Given the description of an element on the screen output the (x, y) to click on. 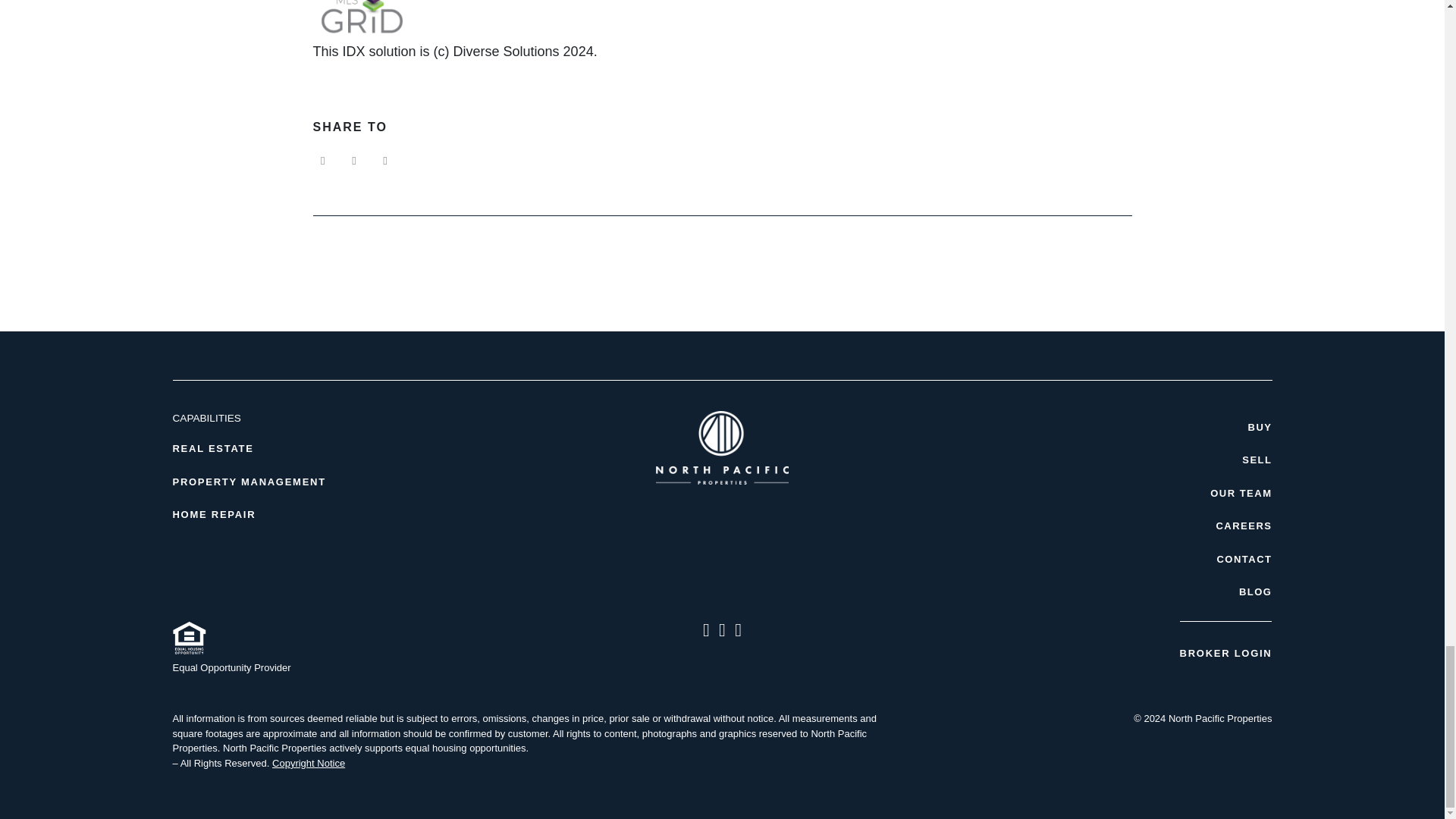
Blog (1088, 592)
Sell (1088, 459)
Our Team (1088, 493)
Buy (1088, 427)
Contact (1088, 559)
Careers (1088, 525)
